Given the description of an element on the screen output the (x, y) to click on. 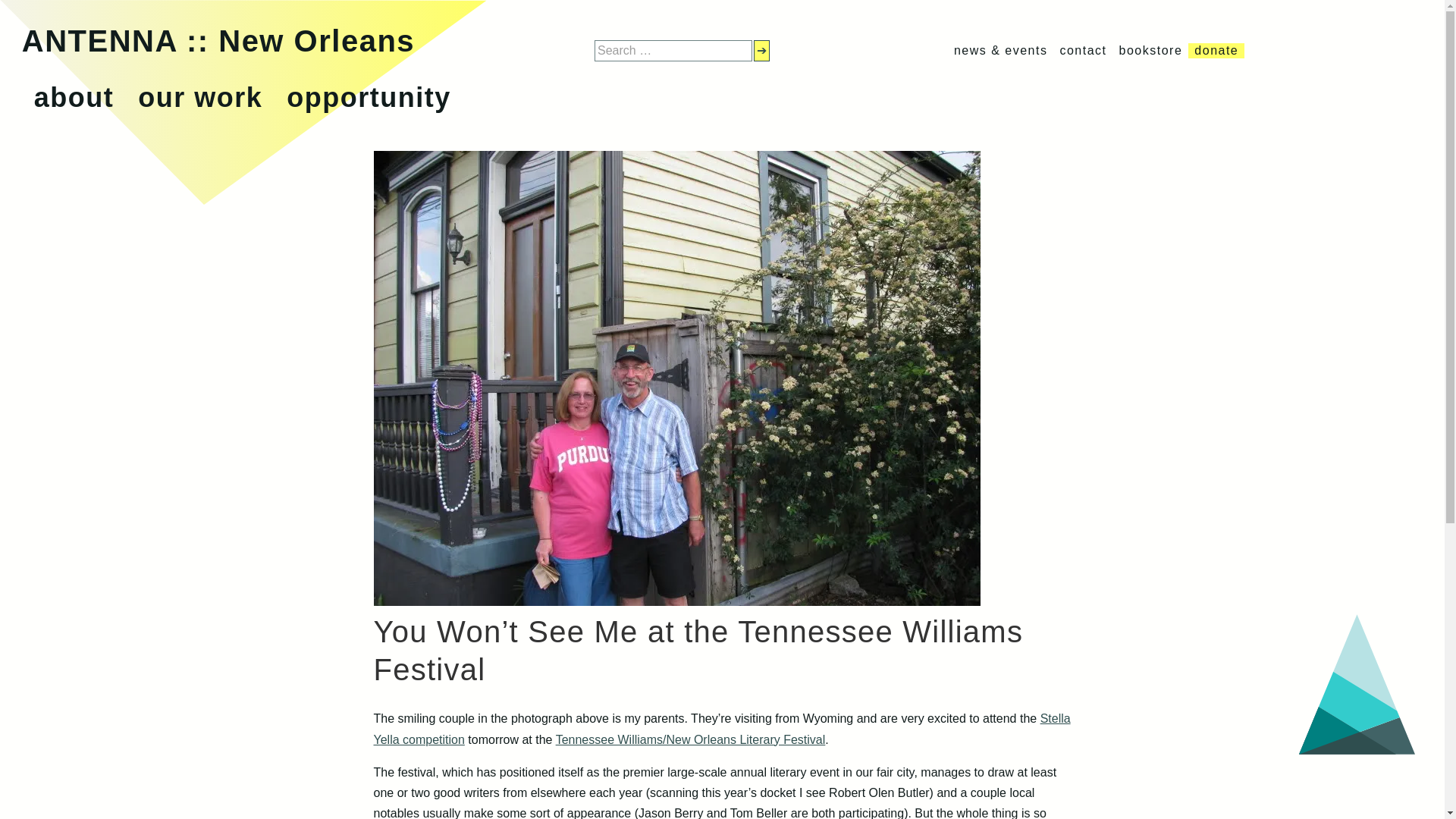
about (73, 97)
bookstore (1150, 50)
donate (1216, 50)
Stella Yella competition (721, 728)
our work (200, 97)
contact (1082, 50)
ANTENNA :: New Orleans (217, 40)
opportunity (367, 97)
Antenna (217, 40)
